Given the description of an element on the screen output the (x, y) to click on. 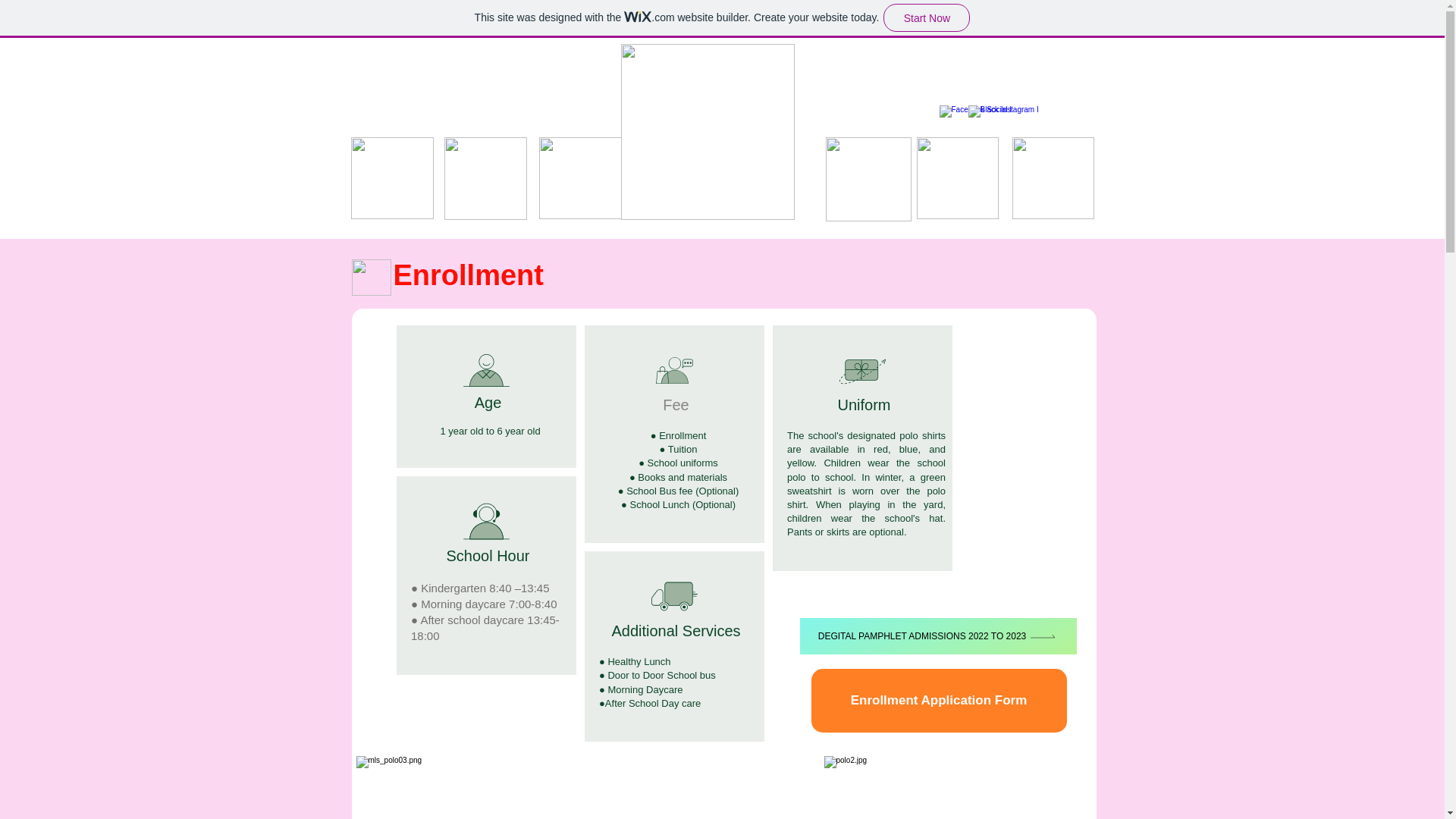
Enrollment Application Form (938, 700)
taiyou.png (371, 277)
DEGITAL PAMPHLET ADMISSIONS 2022 TO 2023 (937, 636)
